Given the description of an element on the screen output the (x, y) to click on. 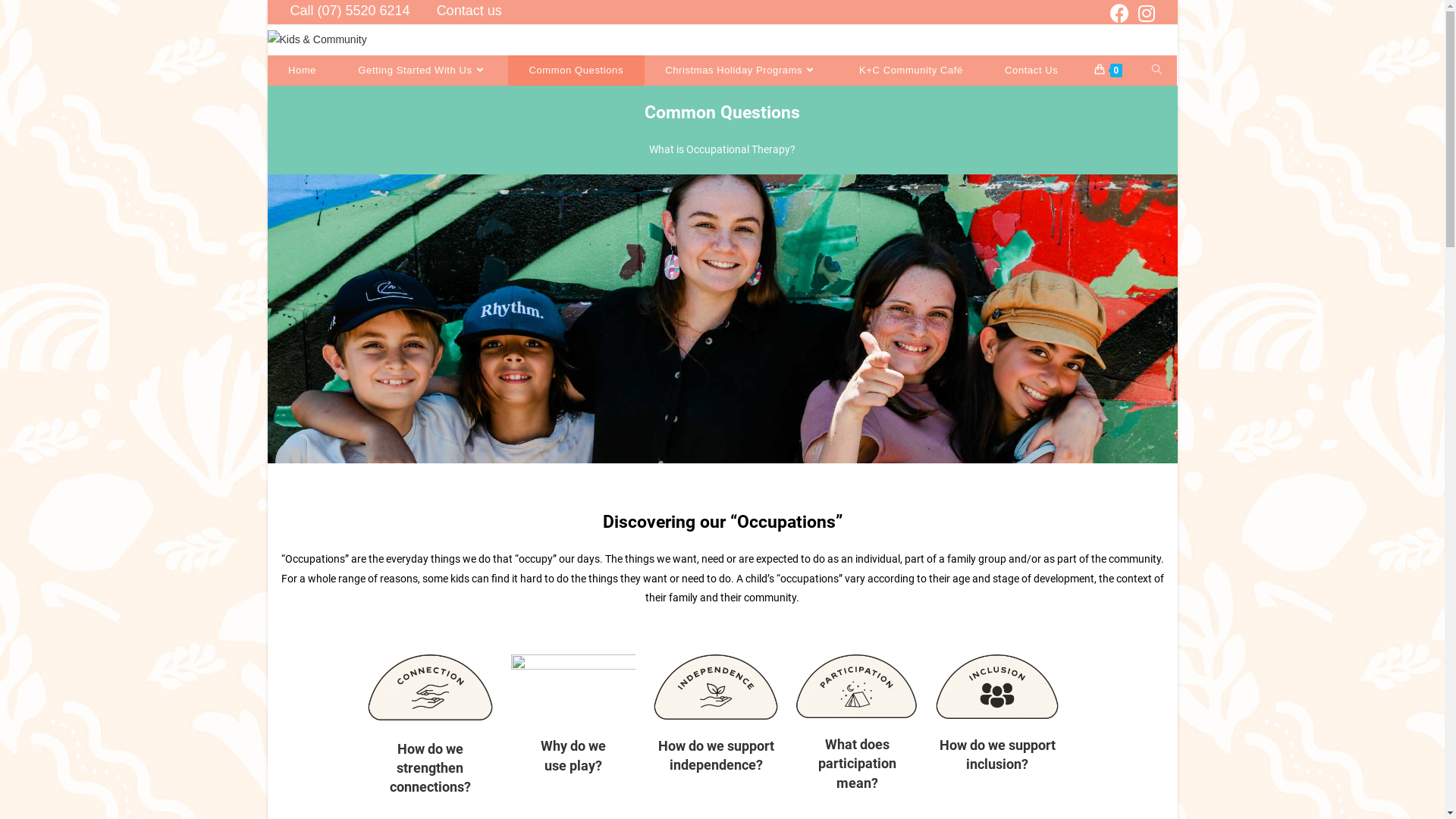
Area IT Element type: text (862, 802)
Careers Element type: text (646, 694)
Contact us Element type: text (469, 10)
0 Element type: text (1108, 70)
Contact Us Element type: text (653, 675)
Common Questions Element type: text (576, 70)
Getting Started With Us Element type: text (422, 70)
Christmas Holiday Programs Element type: text (741, 70)
Our Team Element type: text (650, 656)
Home Element type: text (301, 70)
Helensvale, QLD, 4212 Element type: text (977, 668)
Contact Us Element type: text (1031, 70)
Getting Started With Us Element type: text (682, 636)
Common Questions Element type: text (674, 617)
(07) 5520 6214 Element type: text (960, 702)
West Burleigh, QLD, 4219 Element type: text (983, 633)
